Given the description of an element on the screen output the (x, y) to click on. 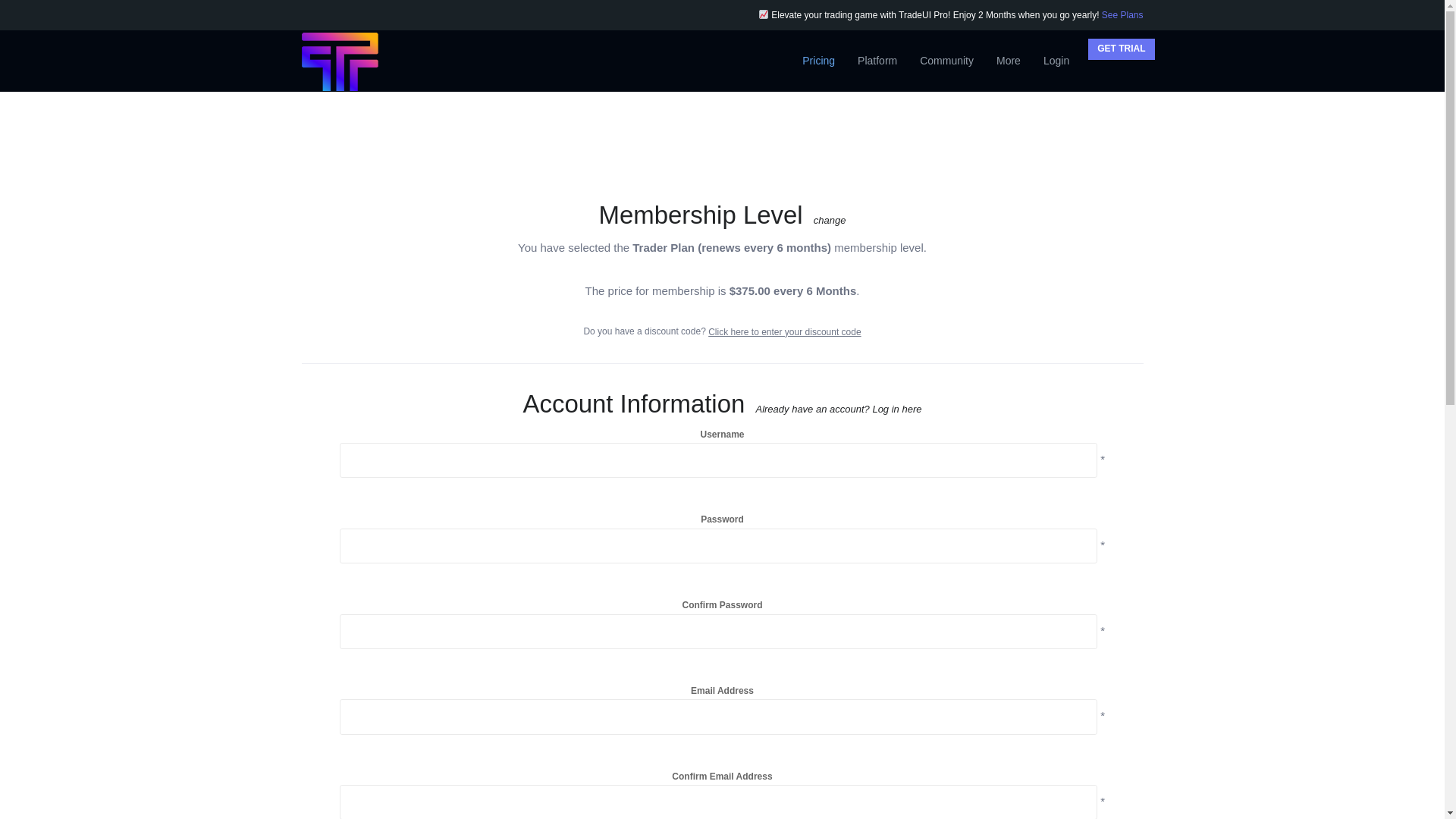
Community (946, 60)
See Plans (1122, 14)
Pricing (817, 60)
GET TRIAL (1120, 48)
Platform (876, 60)
Platform (876, 60)
